Given the description of an element on the screen output the (x, y) to click on. 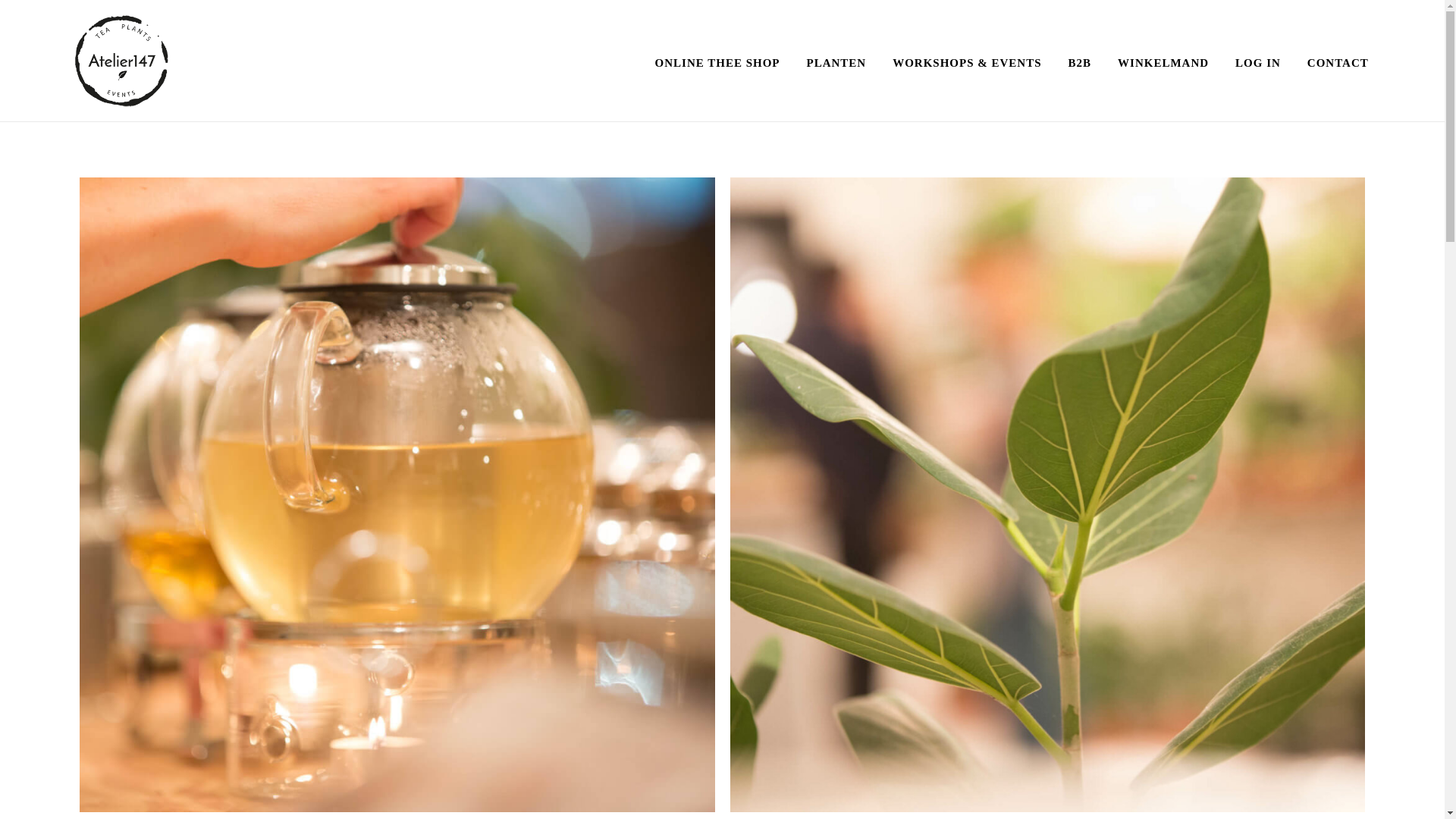
WINKELMAND Element type: text (1162, 62)
LOG IN Element type: text (1257, 62)
CONTACT Element type: text (1337, 62)
WORKSHOPS & EVENTS Element type: text (966, 62)
PLANTEN Element type: text (835, 62)
B2B Element type: text (1079, 62)
ONLINE THEE SHOP Element type: text (717, 62)
